Given the description of an element on the screen output the (x, y) to click on. 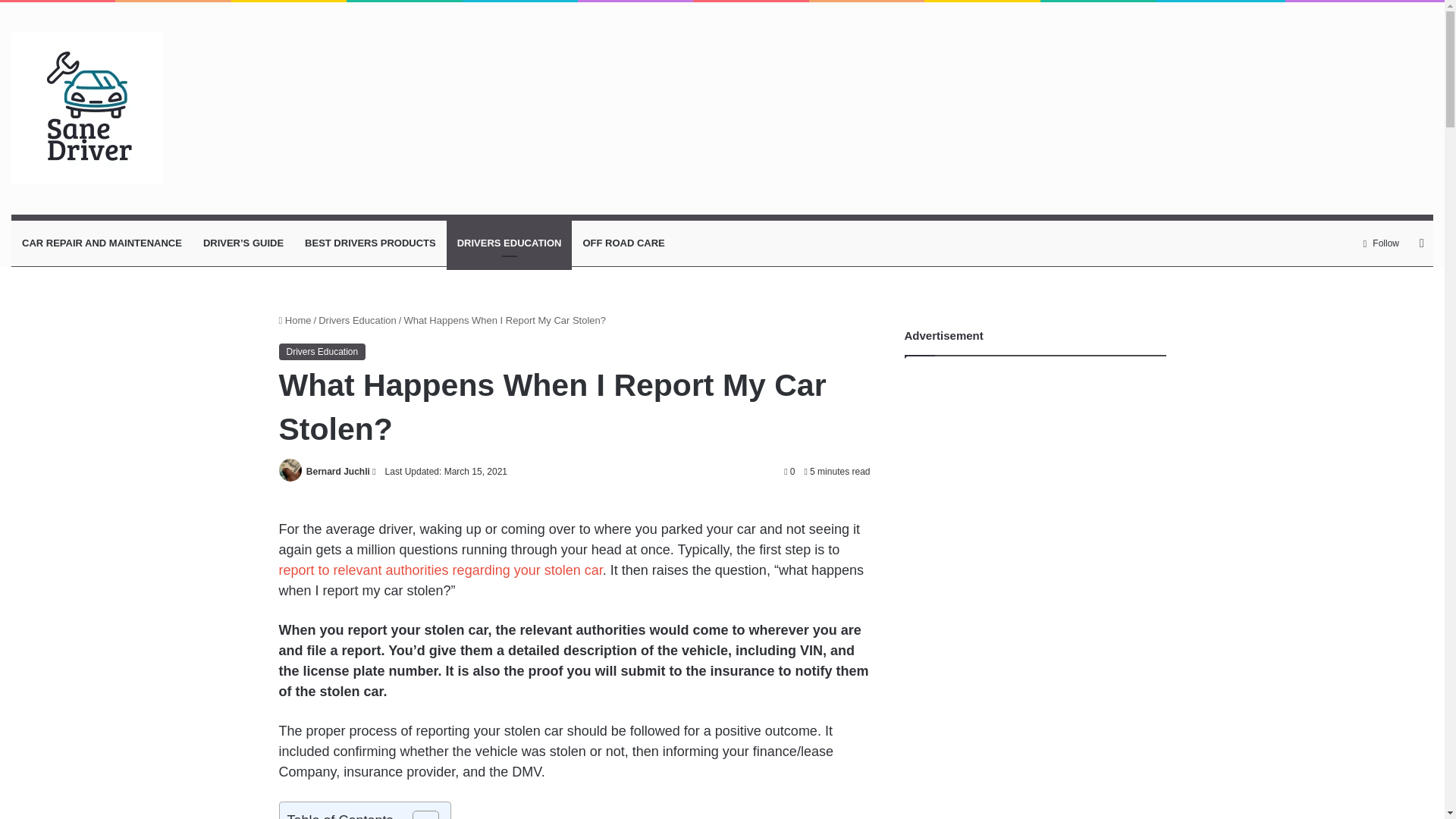
OFF ROAD CARE (623, 243)
DRIVERS EDUCATION (509, 243)
Bernard Juchli (337, 471)
Sane Driver (87, 108)
Drivers Education (357, 319)
BEST DRIVERS PRODUCTS (370, 243)
Drivers Education (322, 351)
Home (295, 319)
CAR REPAIR AND MAINTENANCE (101, 243)
Follow (1381, 243)
Bernard Juchli (337, 471)
report to relevant authorities regarding your stolen car (440, 570)
